Given the description of an element on the screen output the (x, y) to click on. 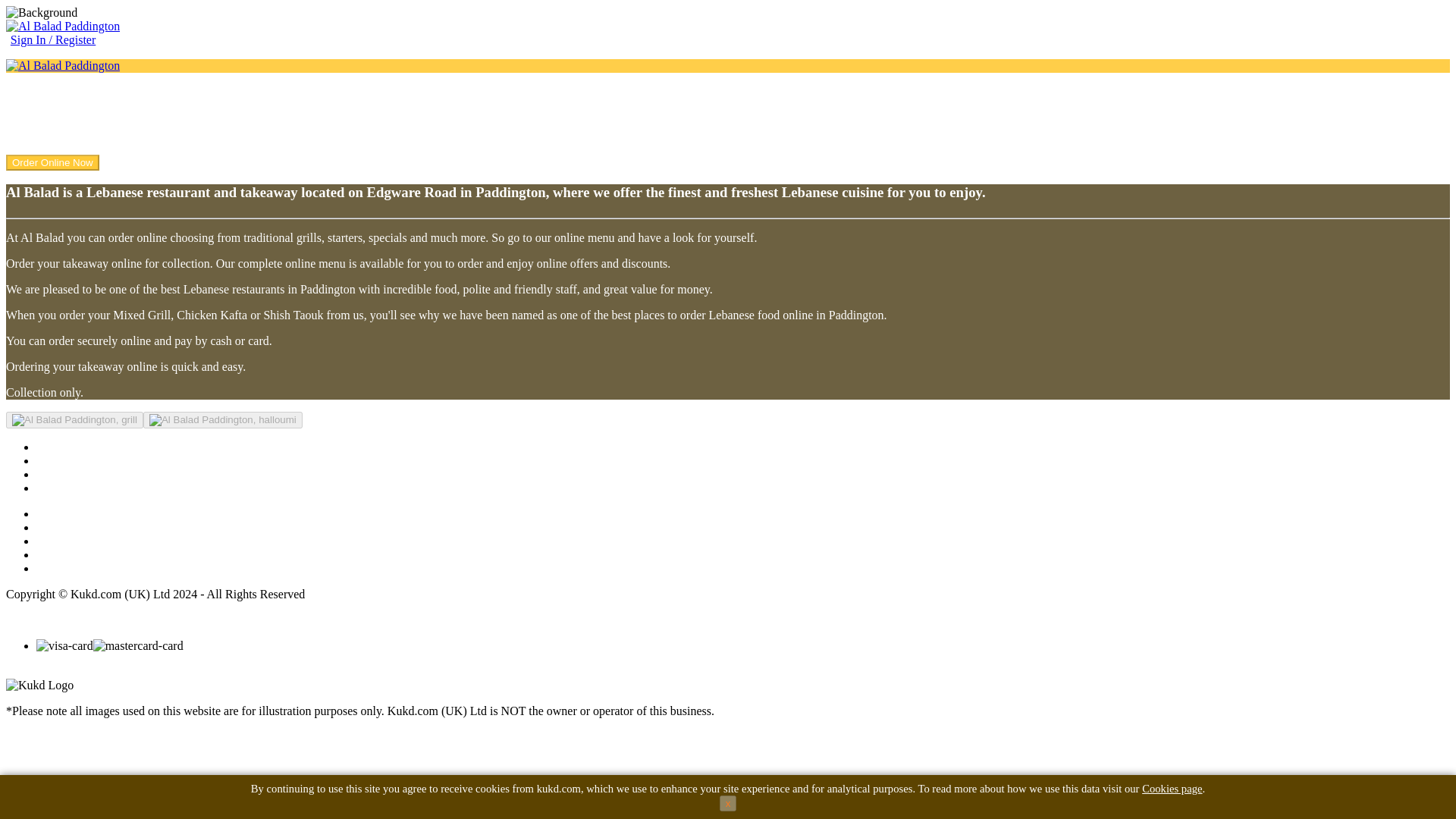
Menu (50, 473)
FAQ's (51, 540)
Order Online Now (52, 162)
Terms of Use (68, 513)
Privacy Policy (71, 567)
Home (50, 446)
Cookies (55, 526)
Contact (55, 460)
Reviews (57, 487)
Allergy (55, 554)
